Given the description of an element on the screen output the (x, y) to click on. 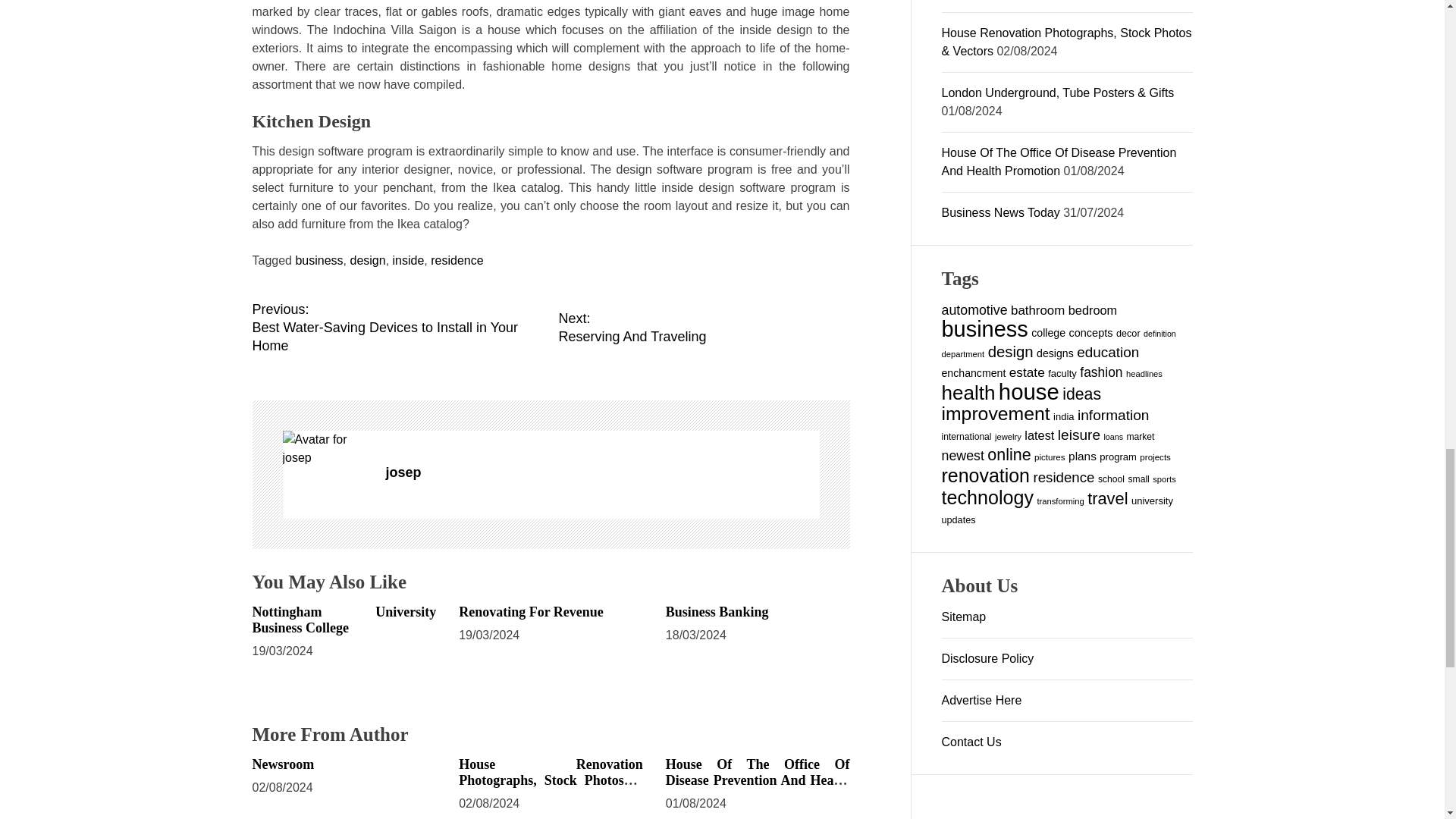
design (367, 259)
Newsroom (282, 764)
inside (409, 259)
josep (601, 472)
residence (456, 259)
josep (397, 327)
Business Banking (325, 448)
Renovating For Revenue (716, 611)
Nottingham University Business College (702, 327)
business (531, 611)
josep (343, 619)
